Given the description of an element on the screen output the (x, y) to click on. 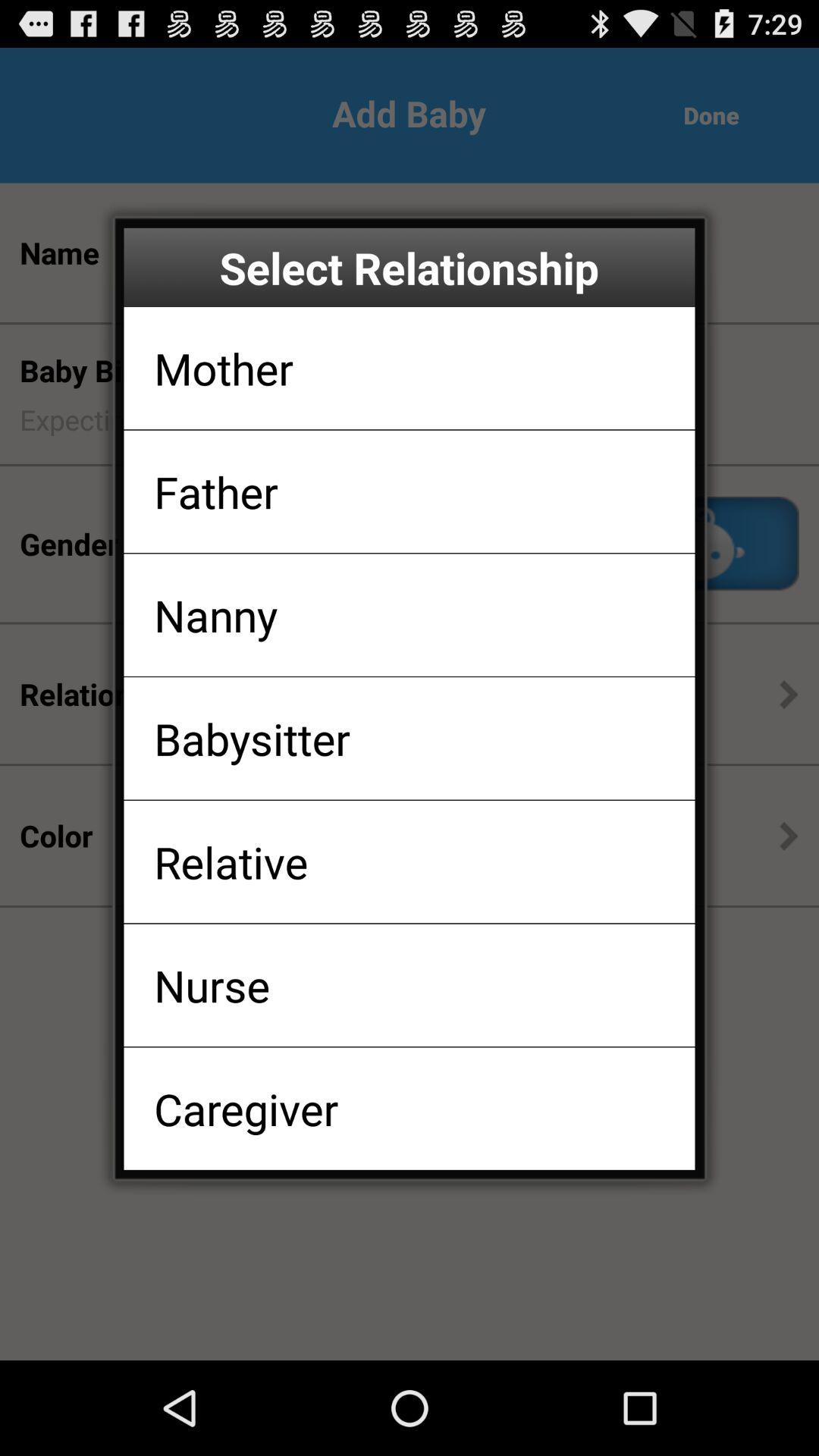
tap item above the caregiver icon (212, 985)
